Given the description of an element on the screen output the (x, y) to click on. 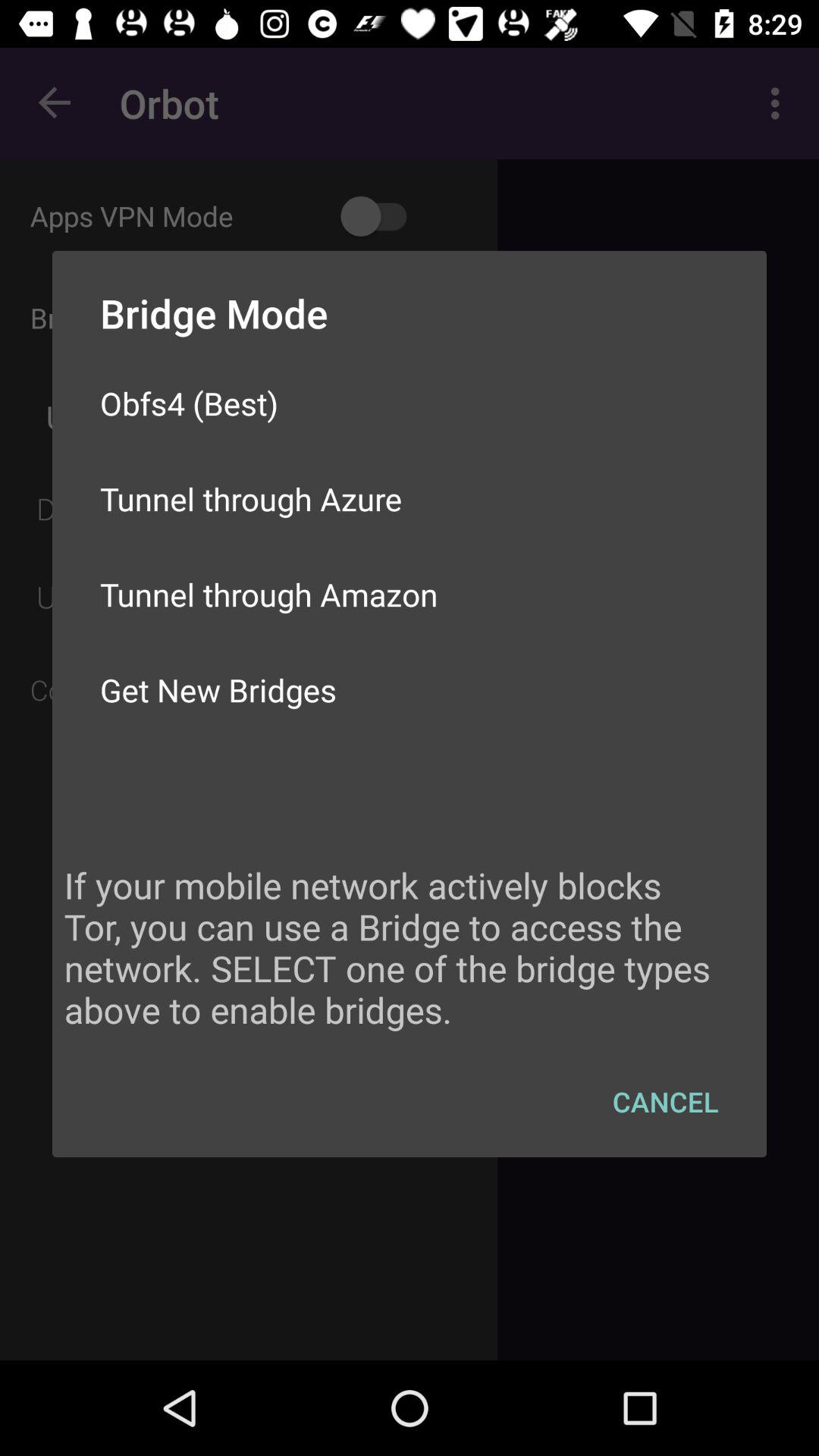
turn on the cancel item (665, 1101)
